Given the description of an element on the screen output the (x, y) to click on. 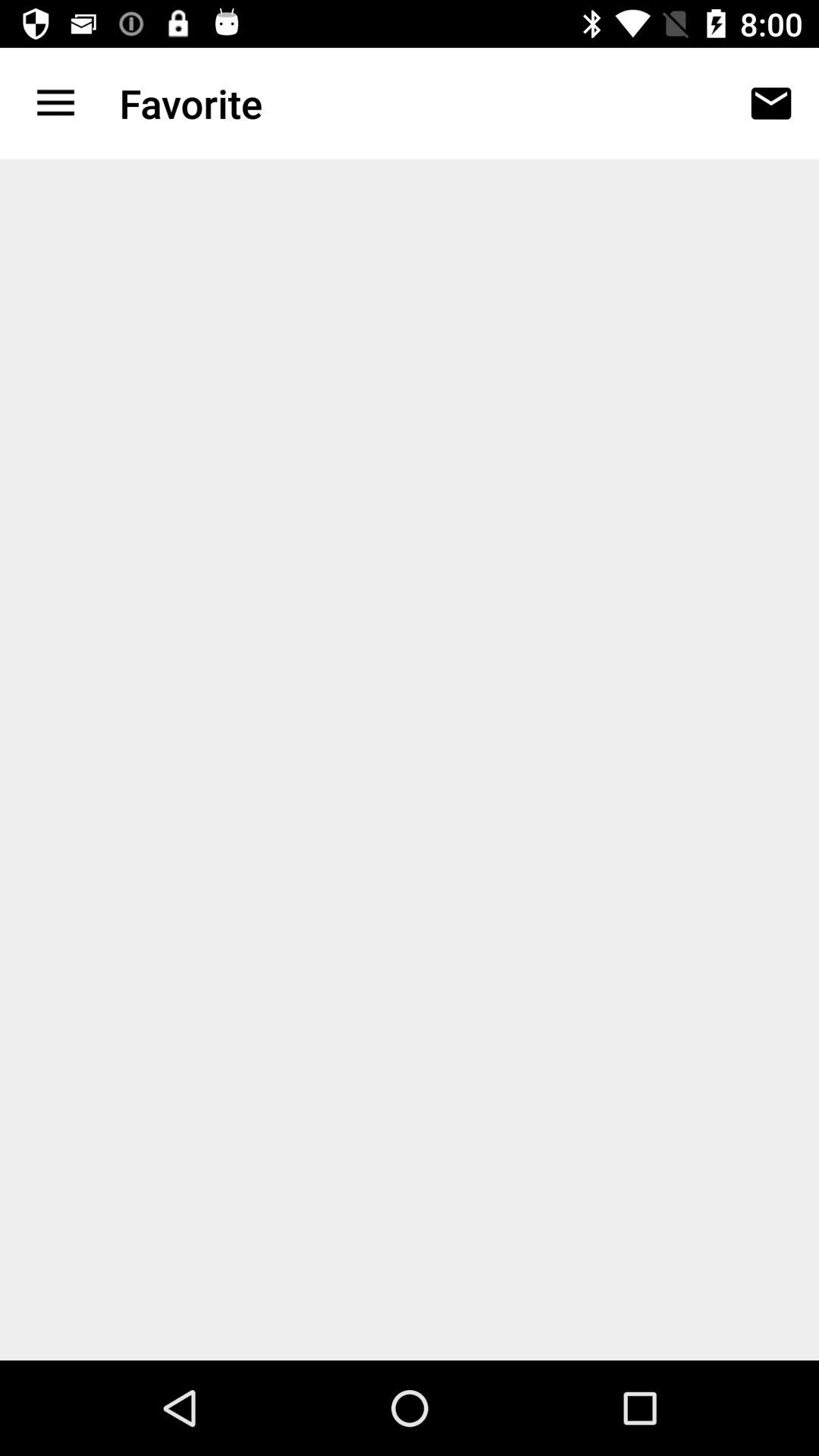
choose item next to the favorite (55, 103)
